Given the description of an element on the screen output the (x, y) to click on. 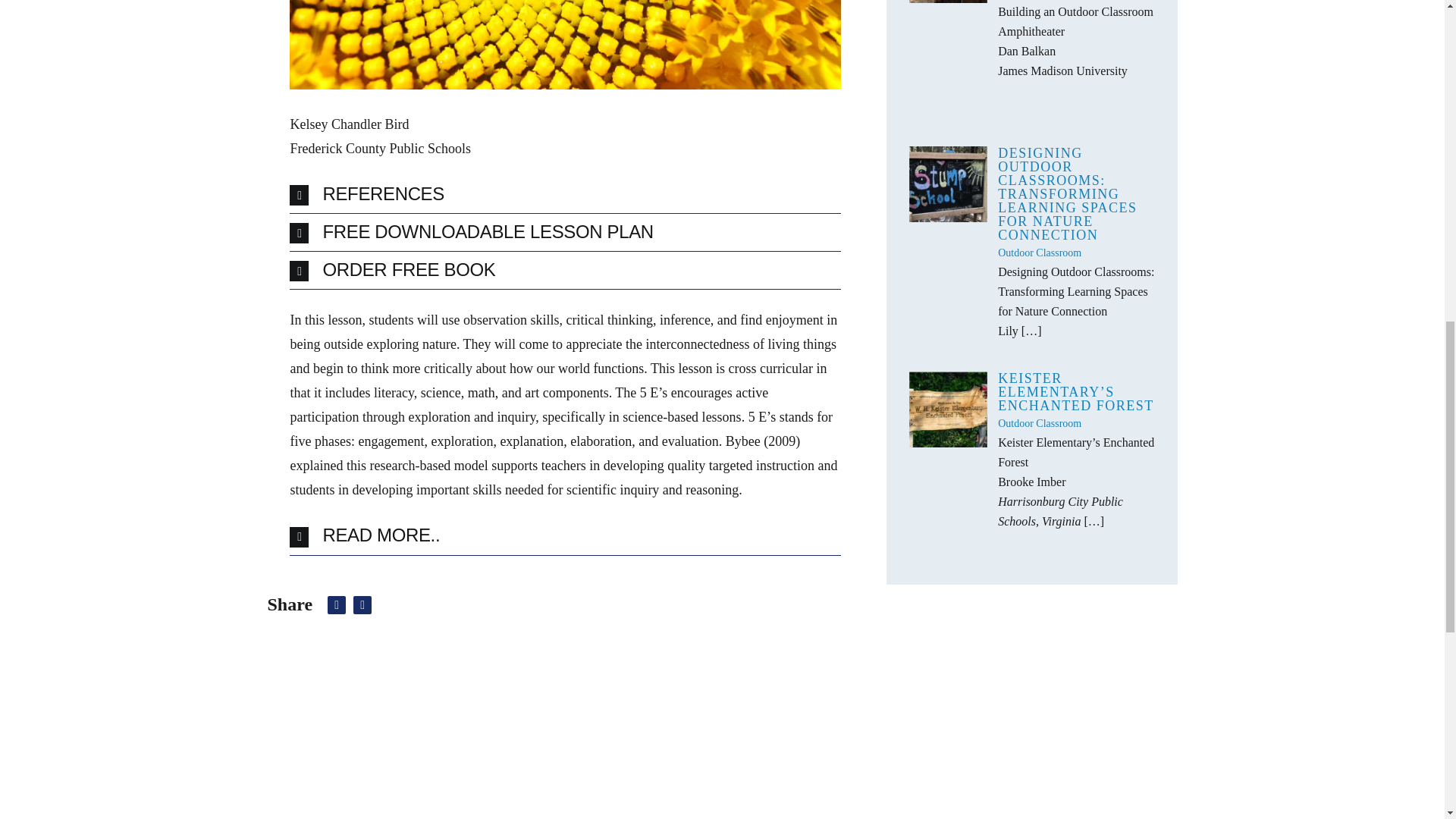
patterns-nature (564, 44)
ORDER FREE BOOK (564, 270)
READ MORE.. (564, 535)
REFERENCES (564, 194)
FREE DOWNLOADABLE LESSON PLAN (564, 231)
